Given the description of an element on the screen output the (x, y) to click on. 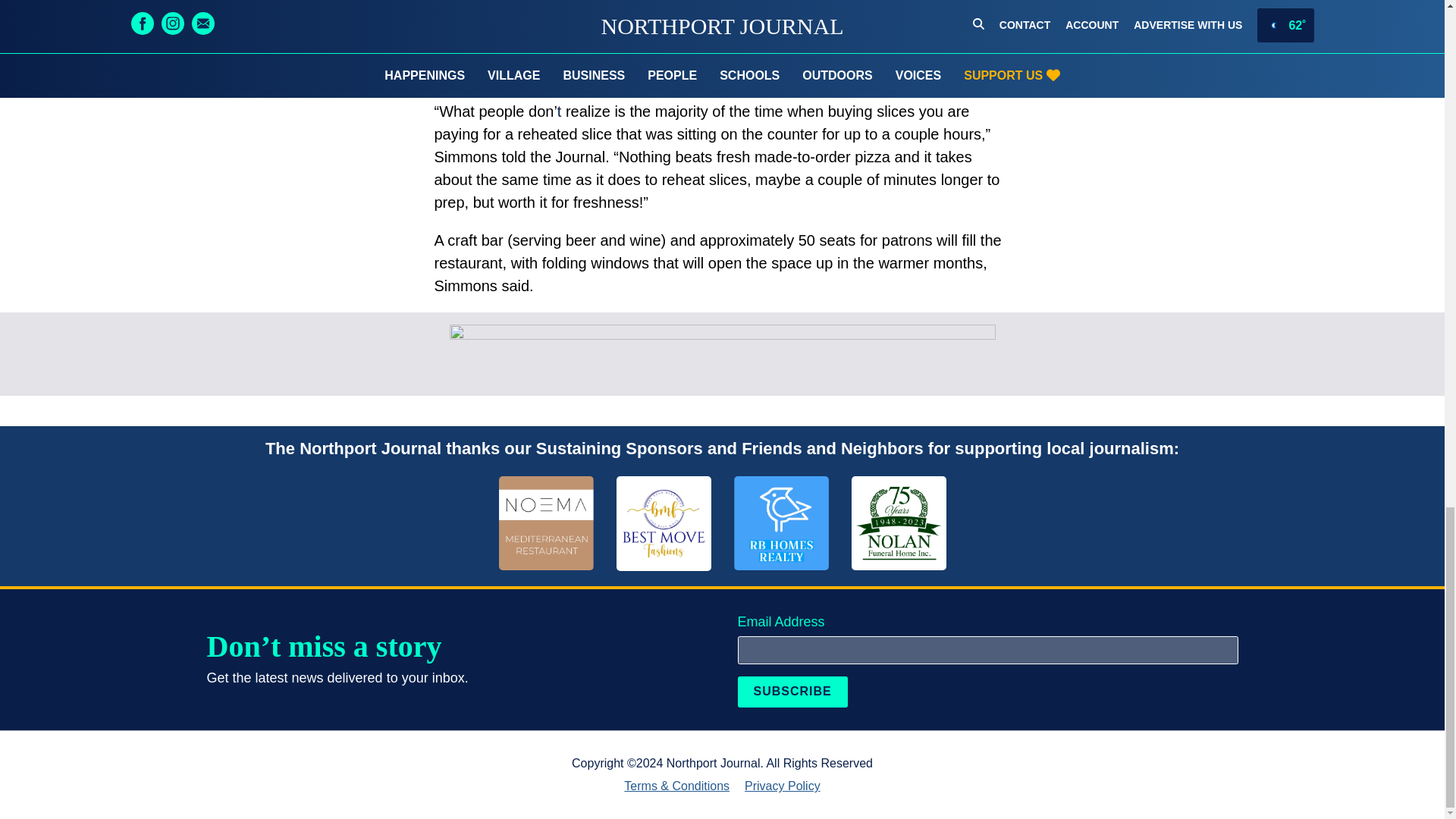
Privacy Policy (782, 785)
Subscribe (791, 691)
Subscribe (791, 691)
